Given the description of an element on the screen output the (x, y) to click on. 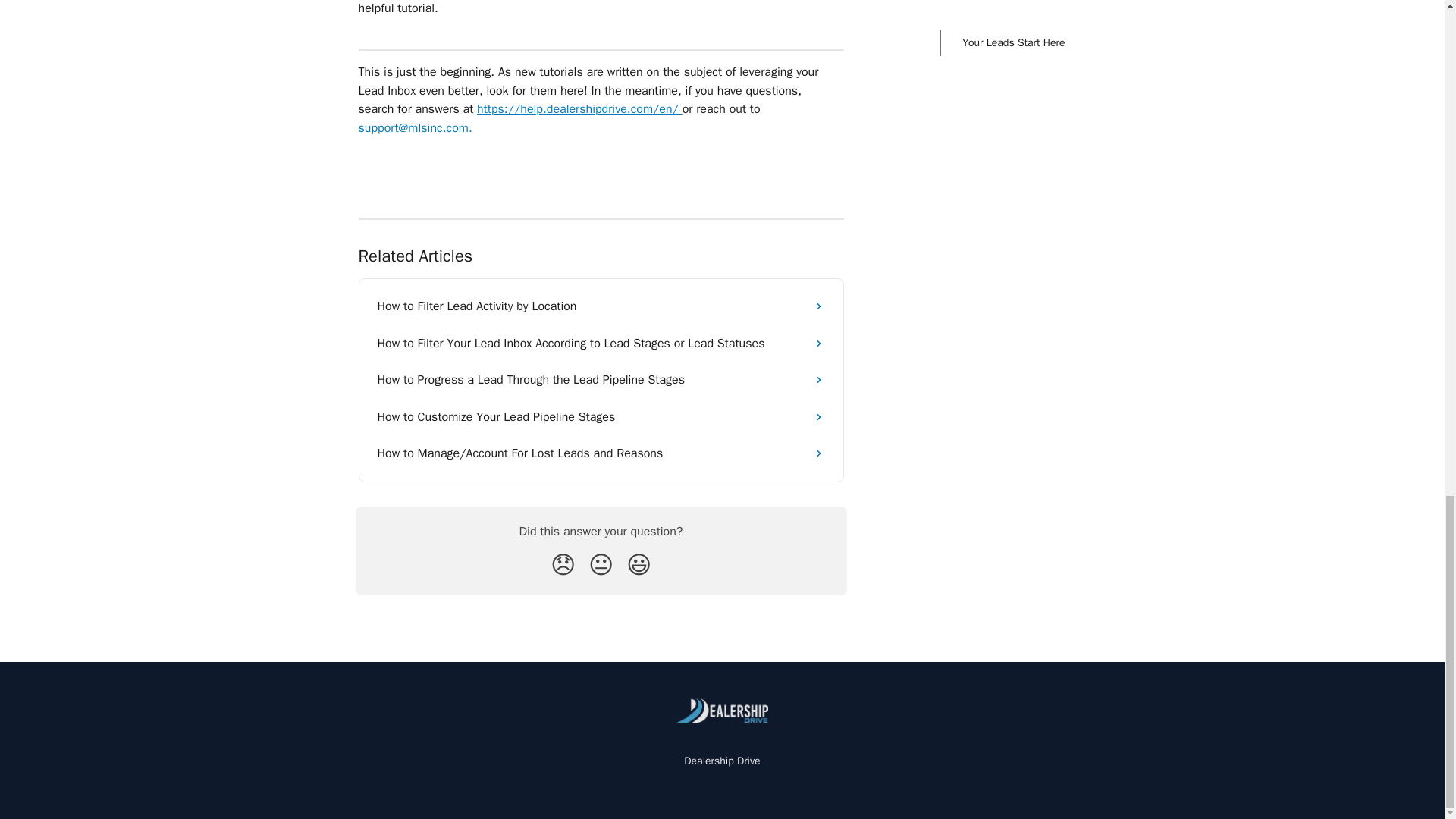
How to Progress a Lead Through the Lead Pipeline Stages (601, 379)
How to Customize Your Lead Pipeline Stages (601, 416)
How to Filter Lead Activity by Location (601, 306)
Dealership Drive (722, 760)
